Given the description of an element on the screen output the (x, y) to click on. 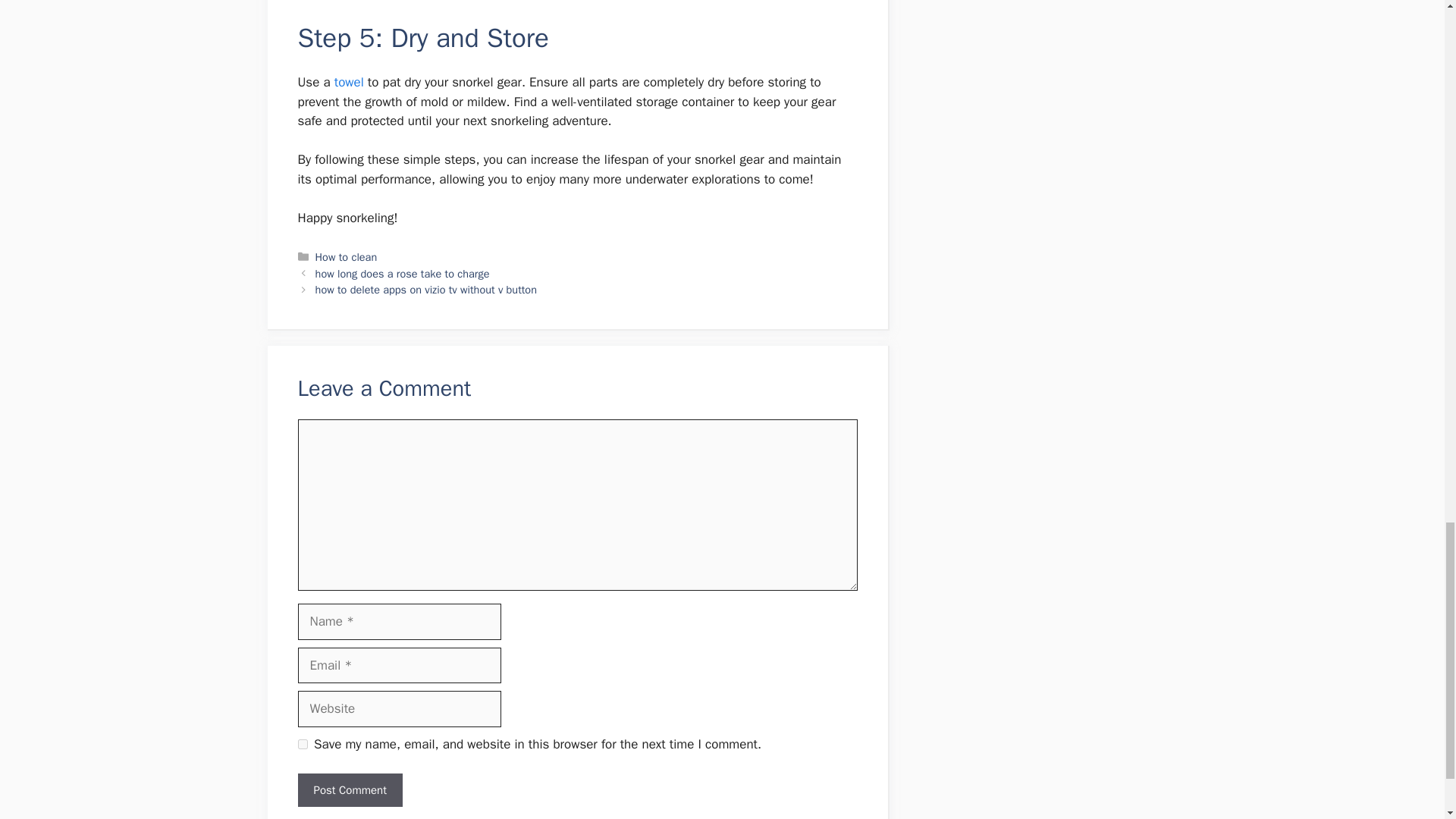
Post Comment (349, 790)
How to clean (346, 256)
yes (302, 744)
how to clean a prada nylon bag (349, 82)
Post Comment (349, 790)
towel (349, 82)
how to delete apps on vizio tv without v button (426, 289)
how long does a rose take to charge (402, 273)
